Given the description of an element on the screen output the (x, y) to click on. 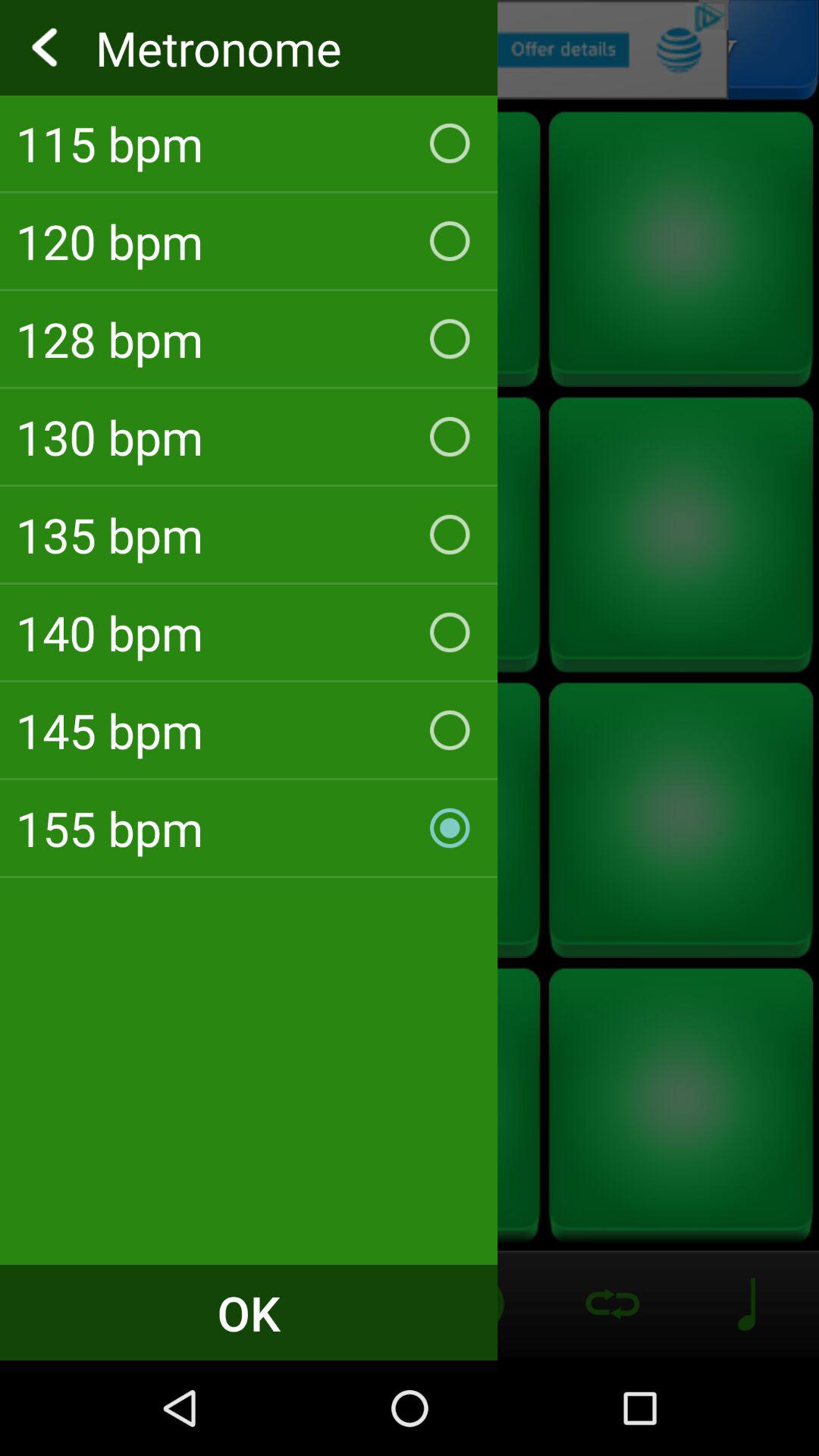
swipe until the 145 bpm icon (248, 730)
